Given the description of an element on the screen output the (x, y) to click on. 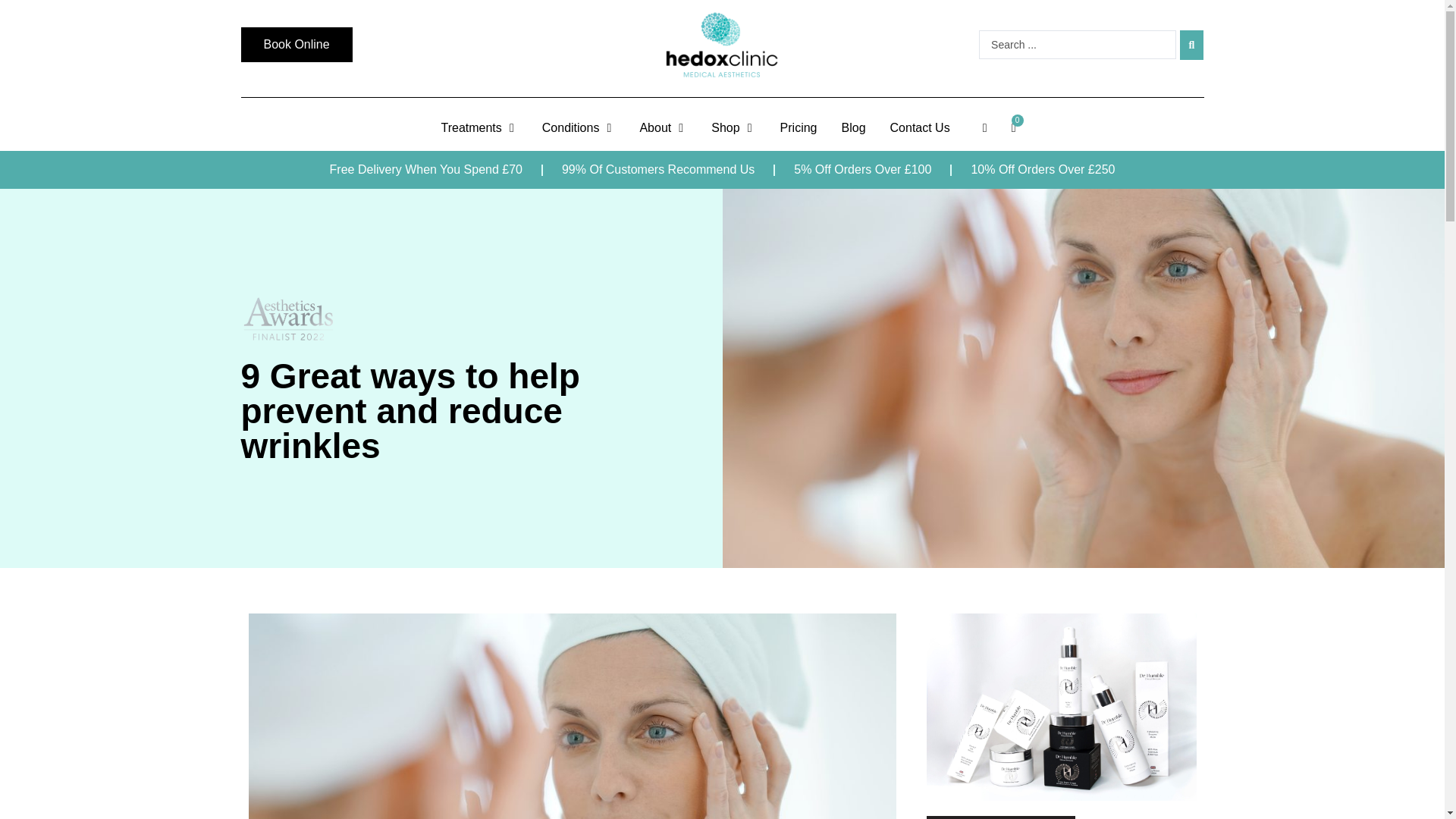
Book Online (296, 44)
